Given the description of an element on the screen output the (x, y) to click on. 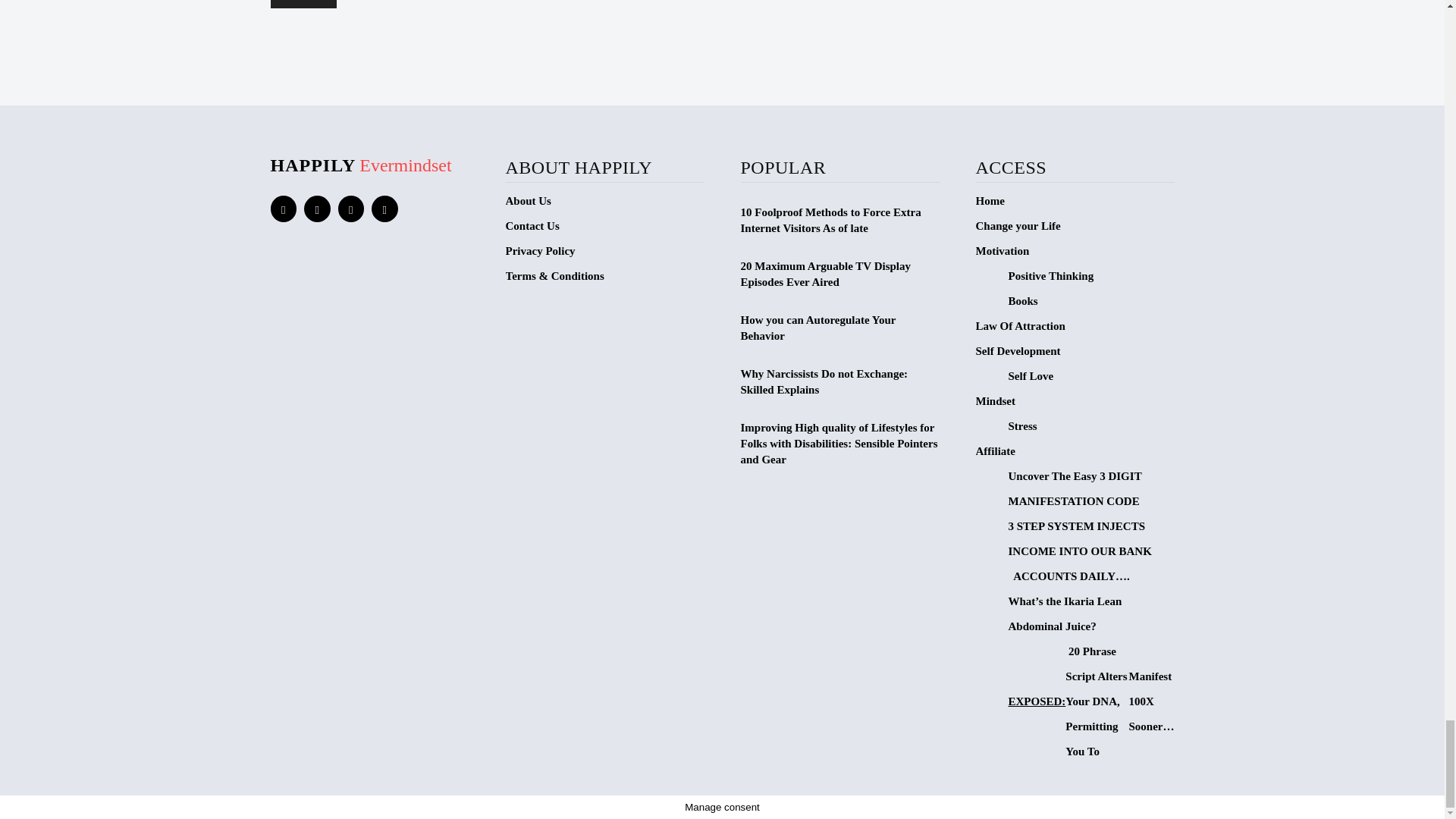
Subscribe (302, 4)
